Given the description of an element on the screen output the (x, y) to click on. 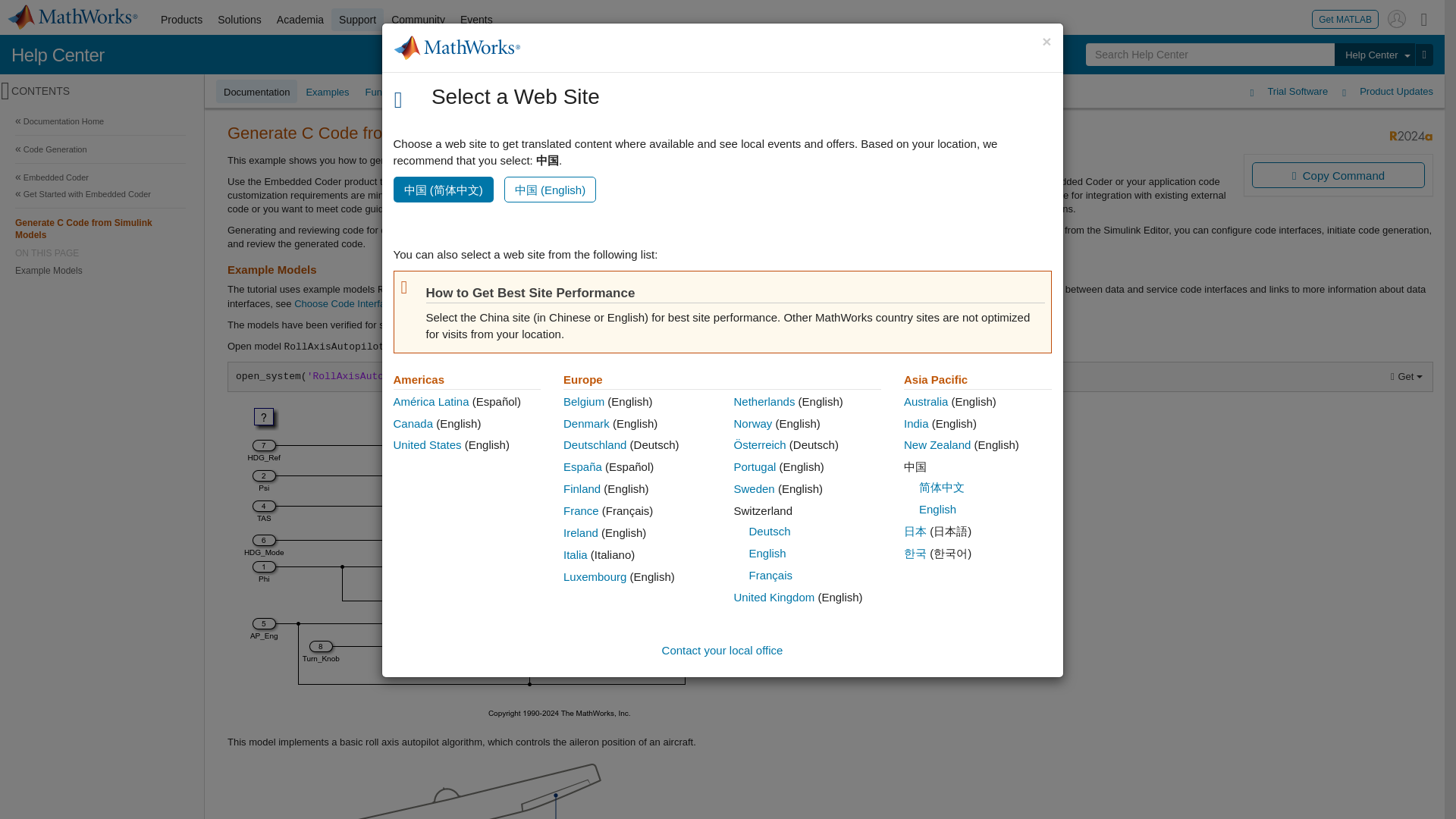
Support (357, 19)
ON THIS PAGE (100, 253)
Solutions (239, 19)
Get MATLAB (1344, 18)
Academia (300, 19)
Sign In to Your MathWorks Account (1396, 18)
Products (180, 19)
Events (476, 19)
Community (418, 19)
Generate C Code from Simulink Models (100, 228)
Matrix Menu (1423, 18)
